Given the description of an element on the screen output the (x, y) to click on. 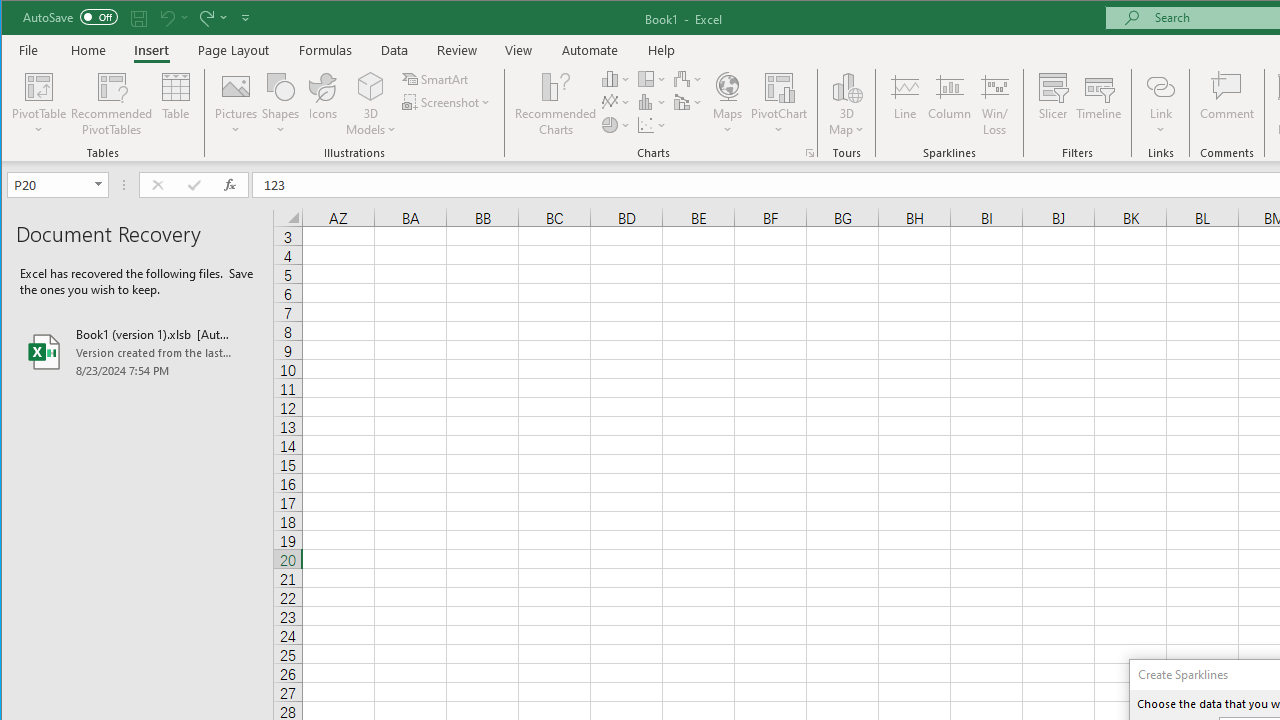
Shapes (280, 104)
Slicer... (1052, 104)
Link (1160, 104)
Column (949, 104)
Table (175, 104)
Recommended Charts (809, 152)
Pictures (235, 104)
SmartArt... (436, 78)
